Given the description of an element on the screen output the (x, y) to click on. 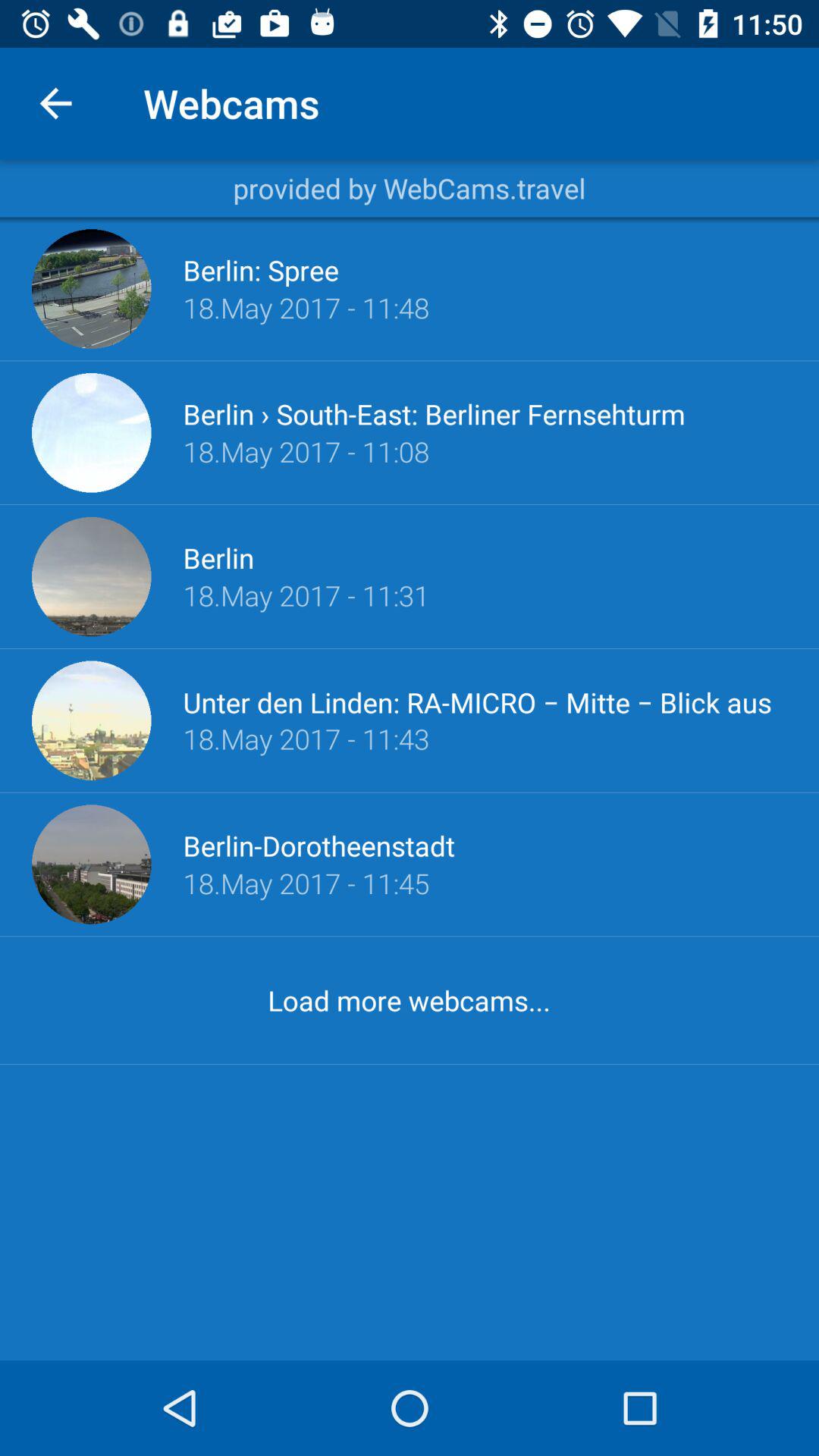
press icon next to webcams (55, 103)
